Given the description of an element on the screen output the (x, y) to click on. 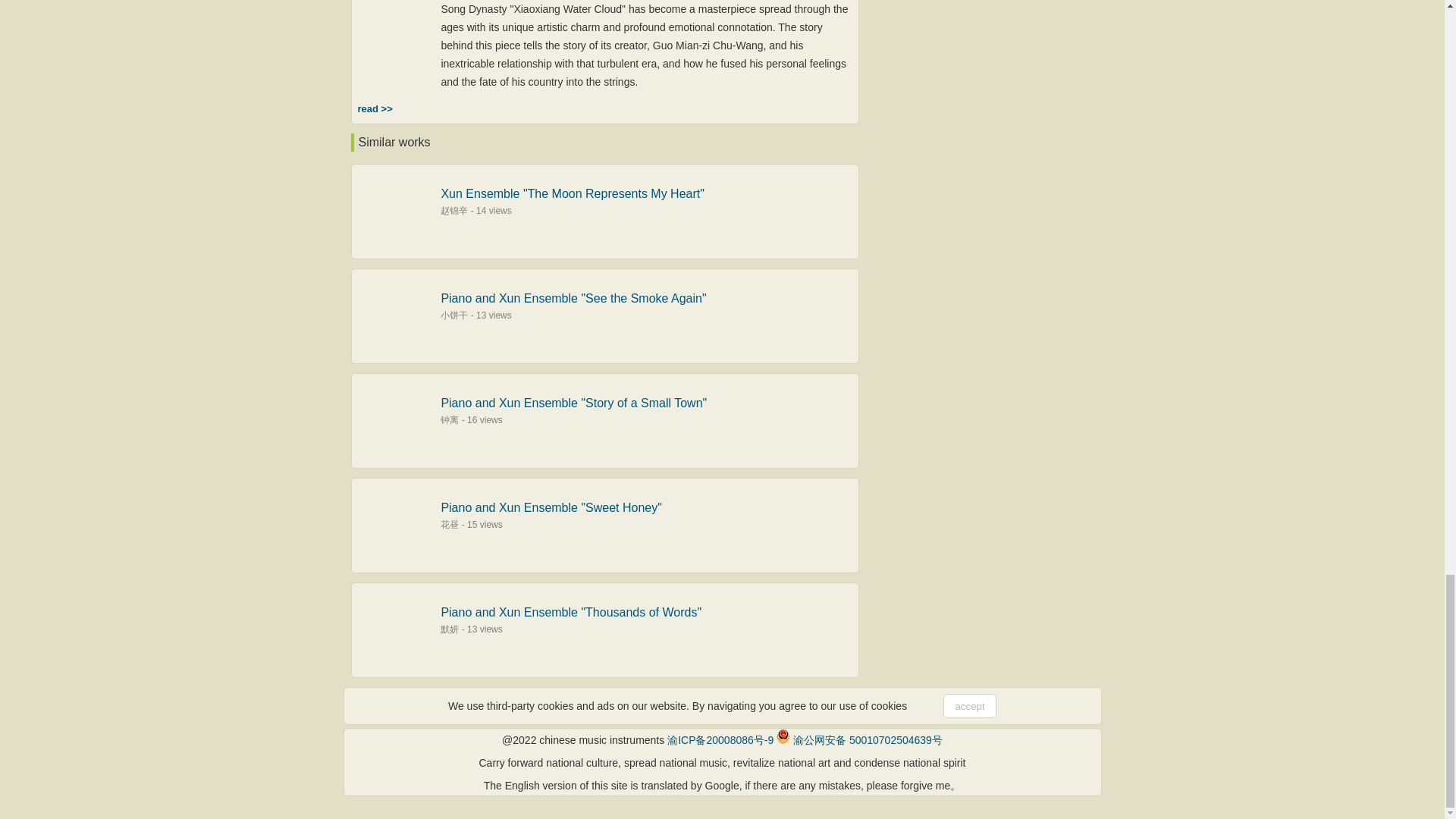
Piano and Xun Ensemble "Story of a Small Town" (573, 402)
Xun Ensemble "The Moon Represents My Heart" (572, 193)
Piano and Xun Ensemble "Thousands of Words" (571, 612)
Piano and Xun Ensemble "Sweet Honey" (551, 507)
Piano and Xun Ensemble "See the Smoke Again" (573, 297)
